Given the description of an element on the screen output the (x, y) to click on. 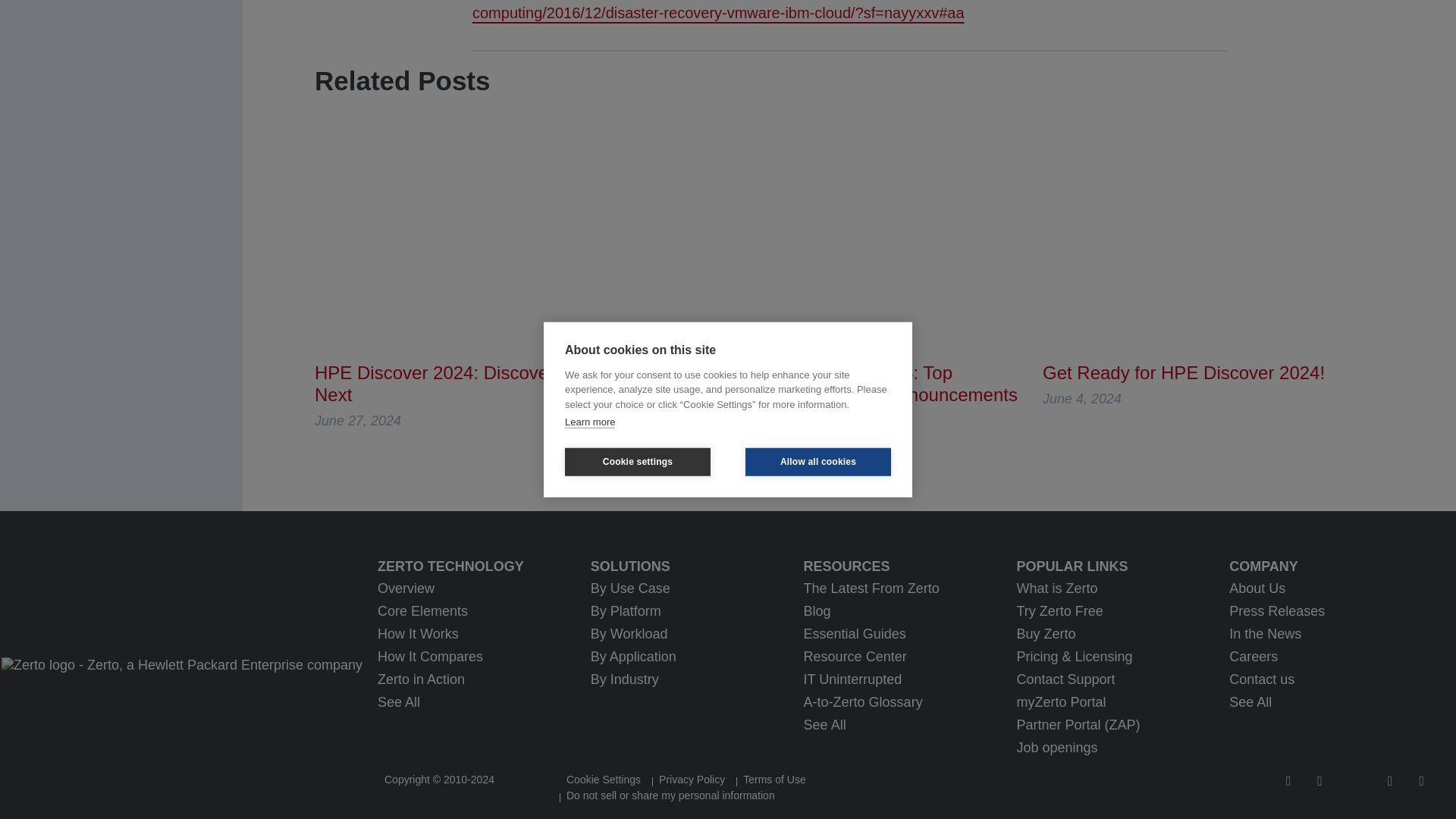
Solutions (697, 566)
Resources (909, 566)
Zerto Technology (484, 566)
